Given the description of an element on the screen output the (x, y) to click on. 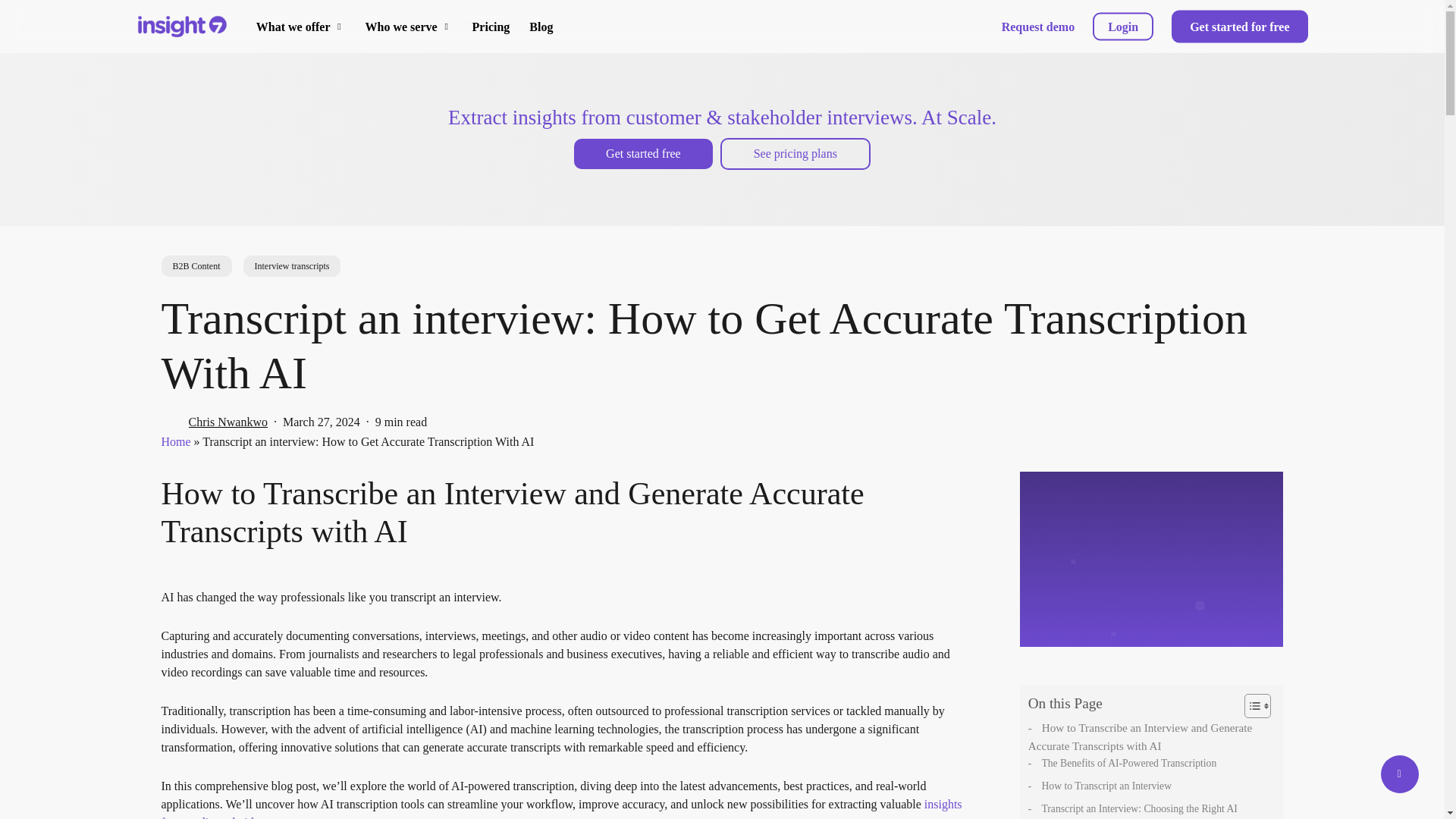
Blog (541, 26)
Posts by Chris Nwankwo (226, 421)
Chris Nwankwo (226, 421)
Interview transcripts (291, 265)
Who we serve (408, 26)
How to Transcript an Interview (1147, 786)
Request demo (1037, 26)
Pricing (491, 26)
What we offer (301, 26)
The Benefits of AI-Powered Transcription (1147, 763)
Get started for free (1239, 26)
Login (1123, 26)
Get started free (643, 153)
insights from audio and video (560, 808)
B2B Content (195, 265)
